Given the description of an element on the screen output the (x, y) to click on. 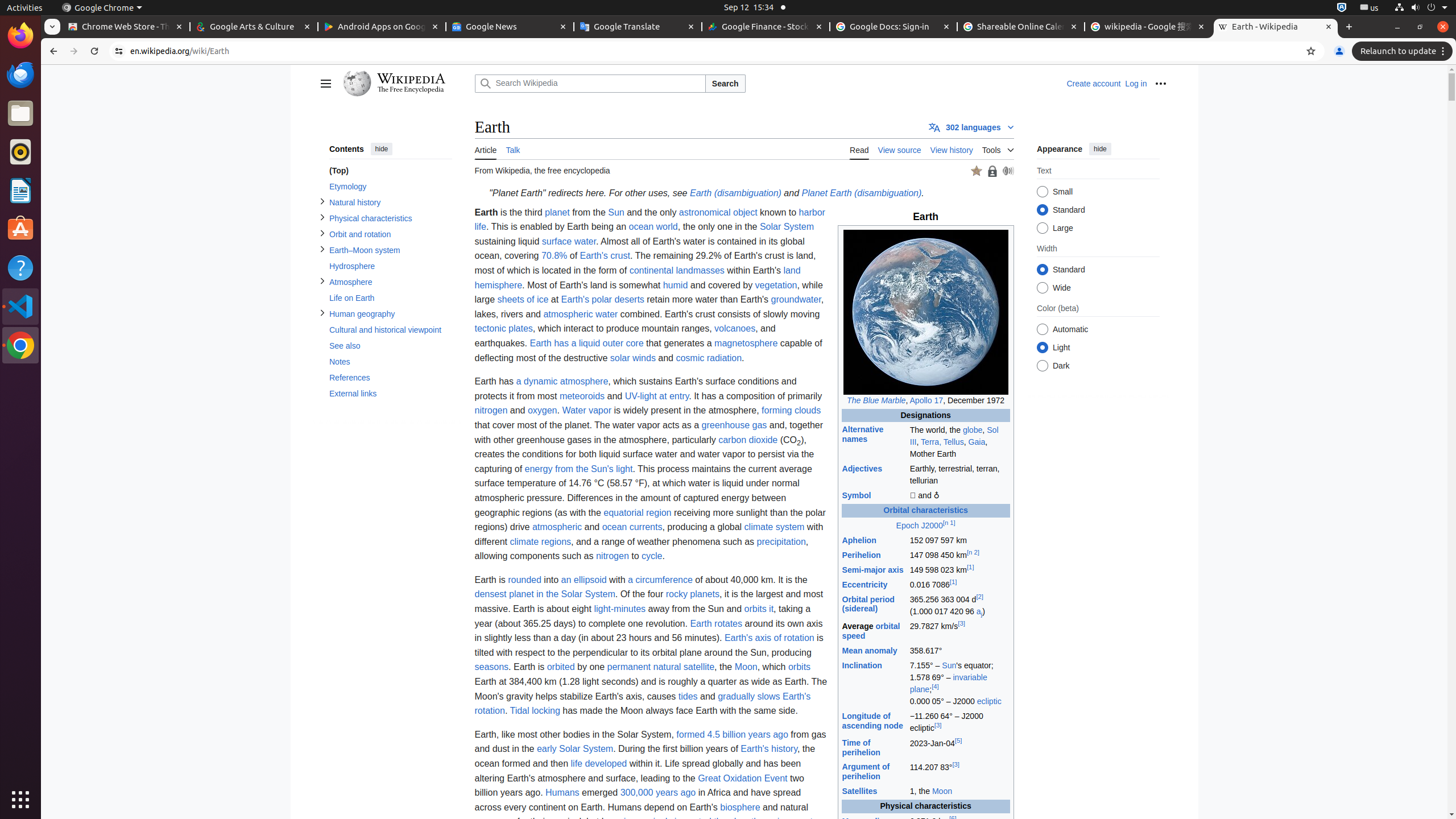
Article Element type: link (485, 148)
300,000 years ago Element type: link (657, 792)
magnetosphere Element type: link (746, 342)
147098450 km[n 2] Element type: table-cell (959, 554)
Light Element type: radio-button (1042, 347)
